Given the description of an element on the screen output the (x, y) to click on. 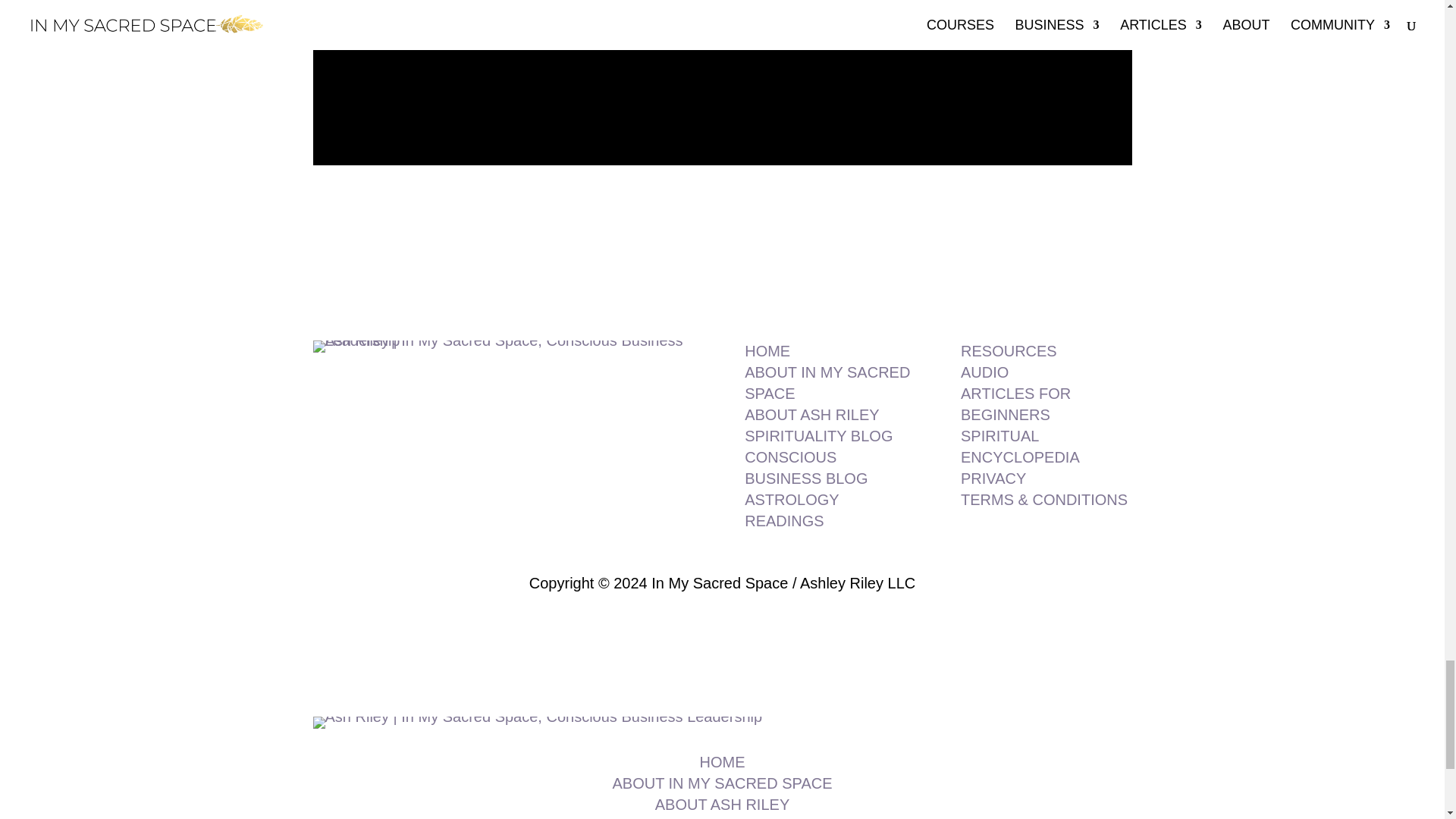
Follow on Instagram (721, 199)
conscious-business-logo (505, 346)
conscious-business-logo (537, 722)
